Given the description of an element on the screen output the (x, y) to click on. 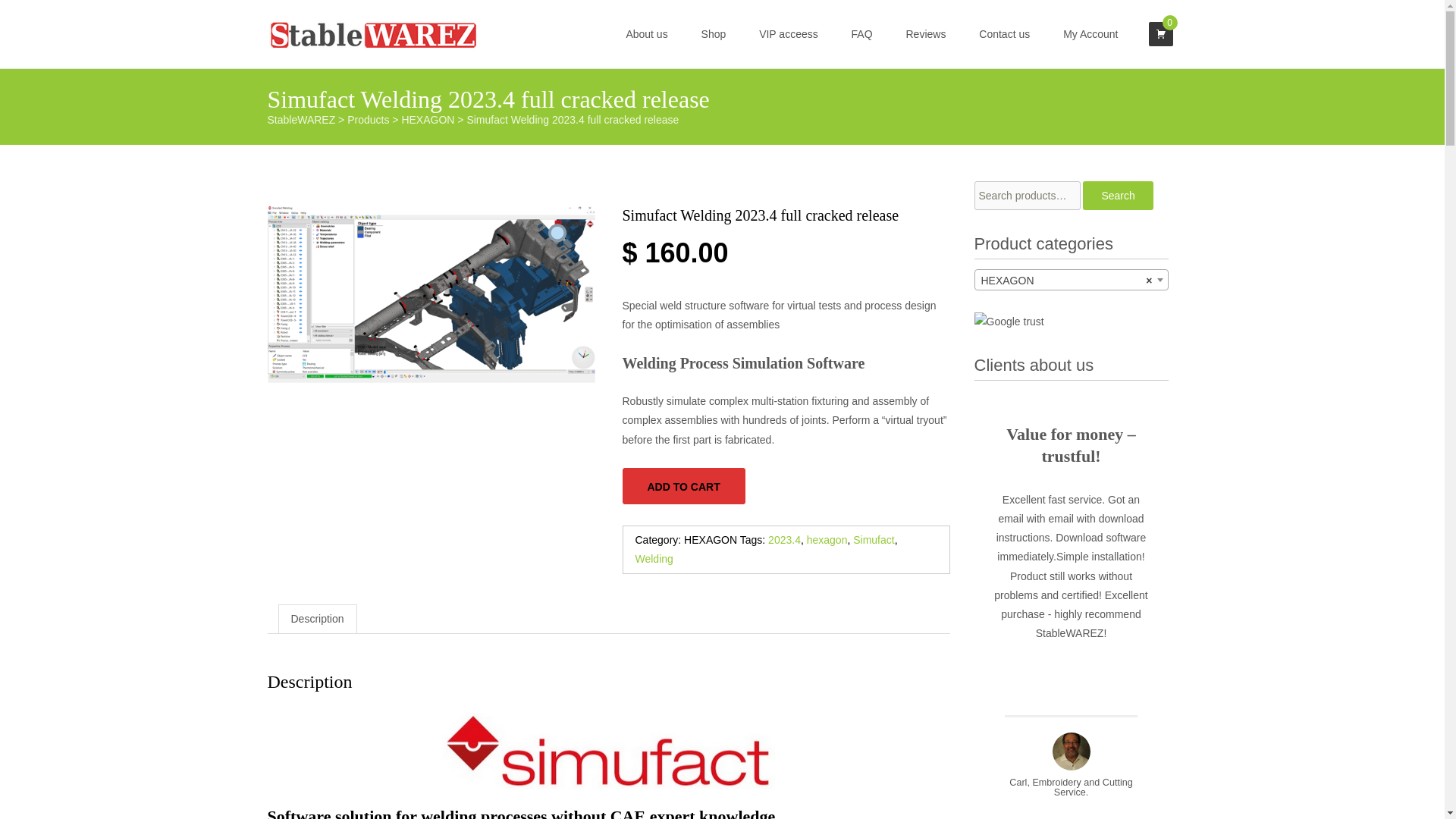
simufact-welding (430, 294)
hexagon (826, 539)
2023.4 (784, 539)
ADD TO CART (682, 485)
Simufact (873, 539)
Welding (653, 558)
HEXAGON (710, 539)
StableWAREZ (300, 119)
HEXAGON (427, 119)
StableWAREZ (361, 30)
Go to StableWAREZ. (300, 119)
HEXAGON (1071, 280)
Go to the HEXAGON Product Category archives. (427, 119)
Description (317, 619)
0 (1160, 33)
